Given the description of an element on the screen output the (x, y) to click on. 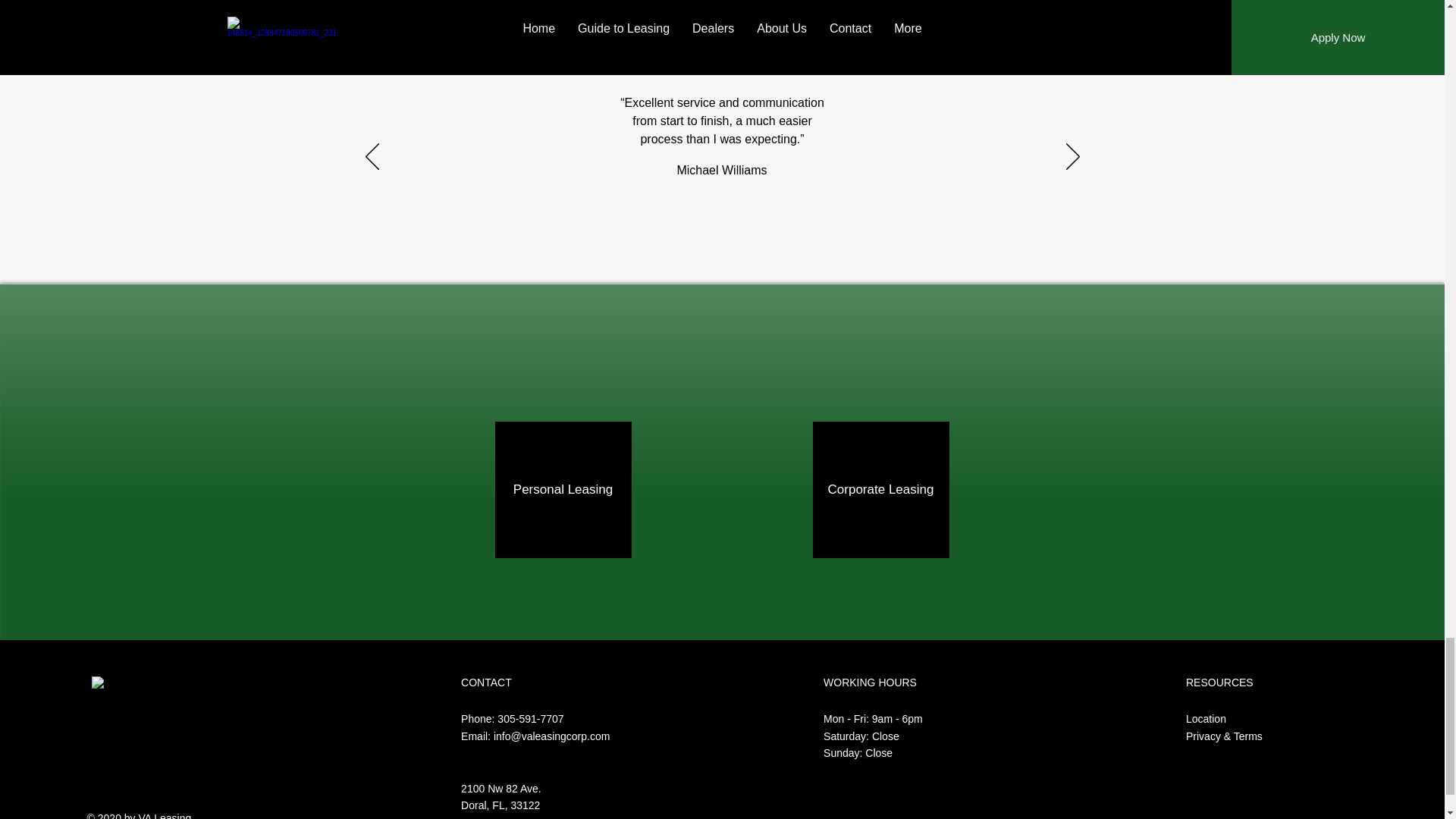
Location (1205, 718)
Personal Leasing (562, 489)
Corporate Leasing (880, 489)
